Given the description of an element on the screen output the (x, y) to click on. 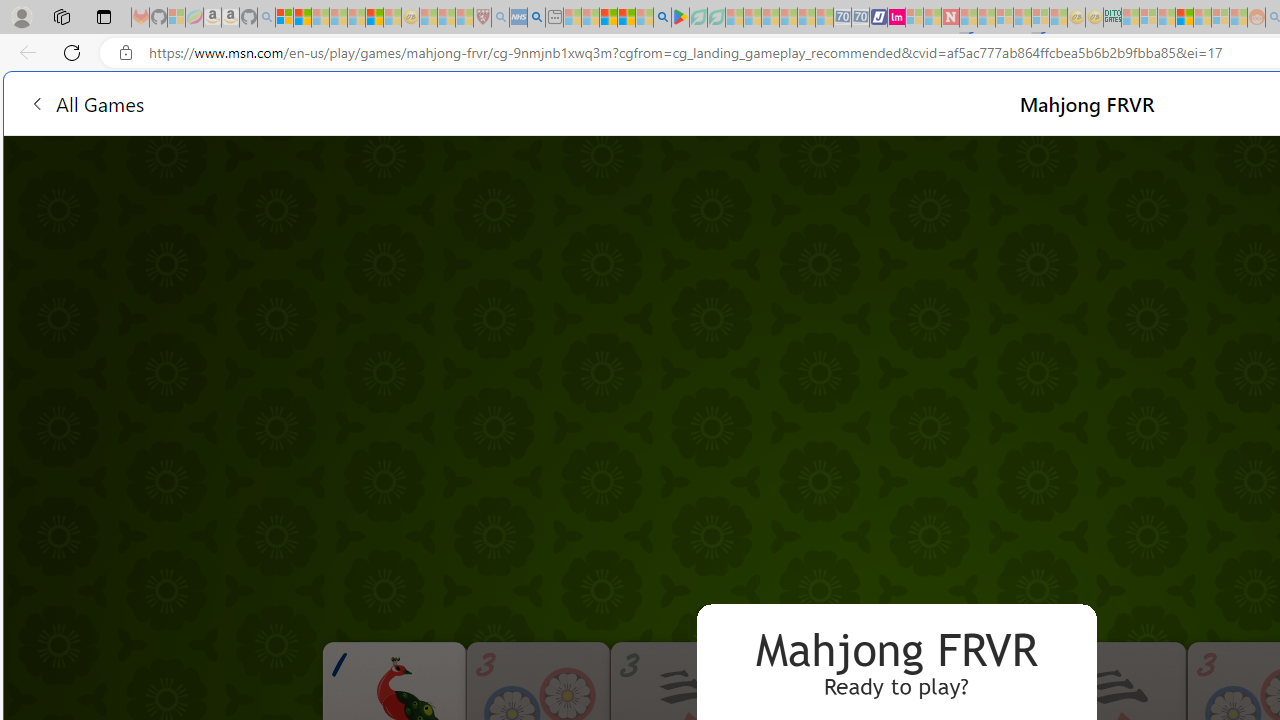
Local - MSN - Sleeping (464, 17)
All Games (380, 102)
